Given the description of an element on the screen output the (x, y) to click on. 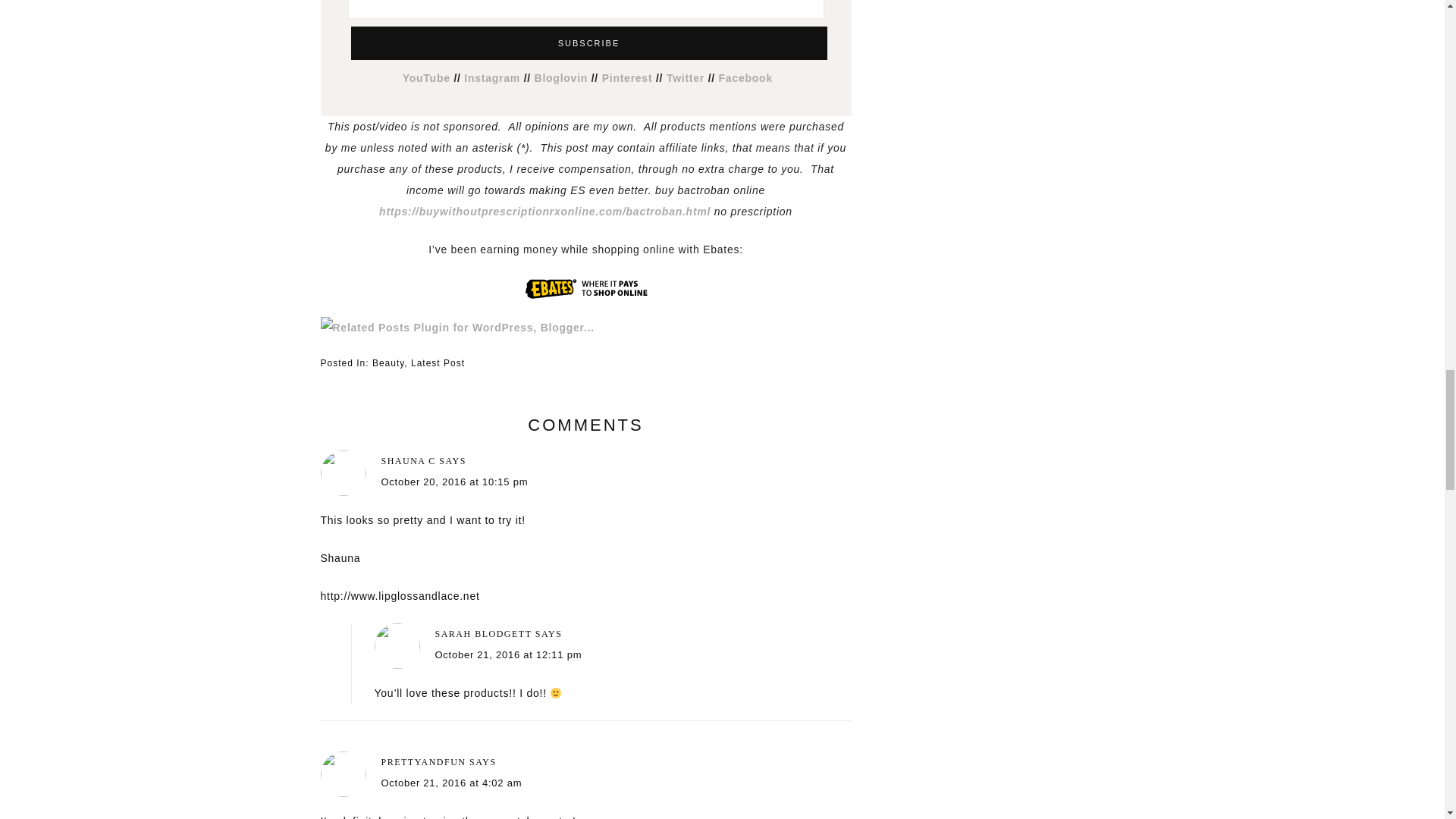
Subscribe (588, 42)
